Given the description of an element on the screen output the (x, y) to click on. 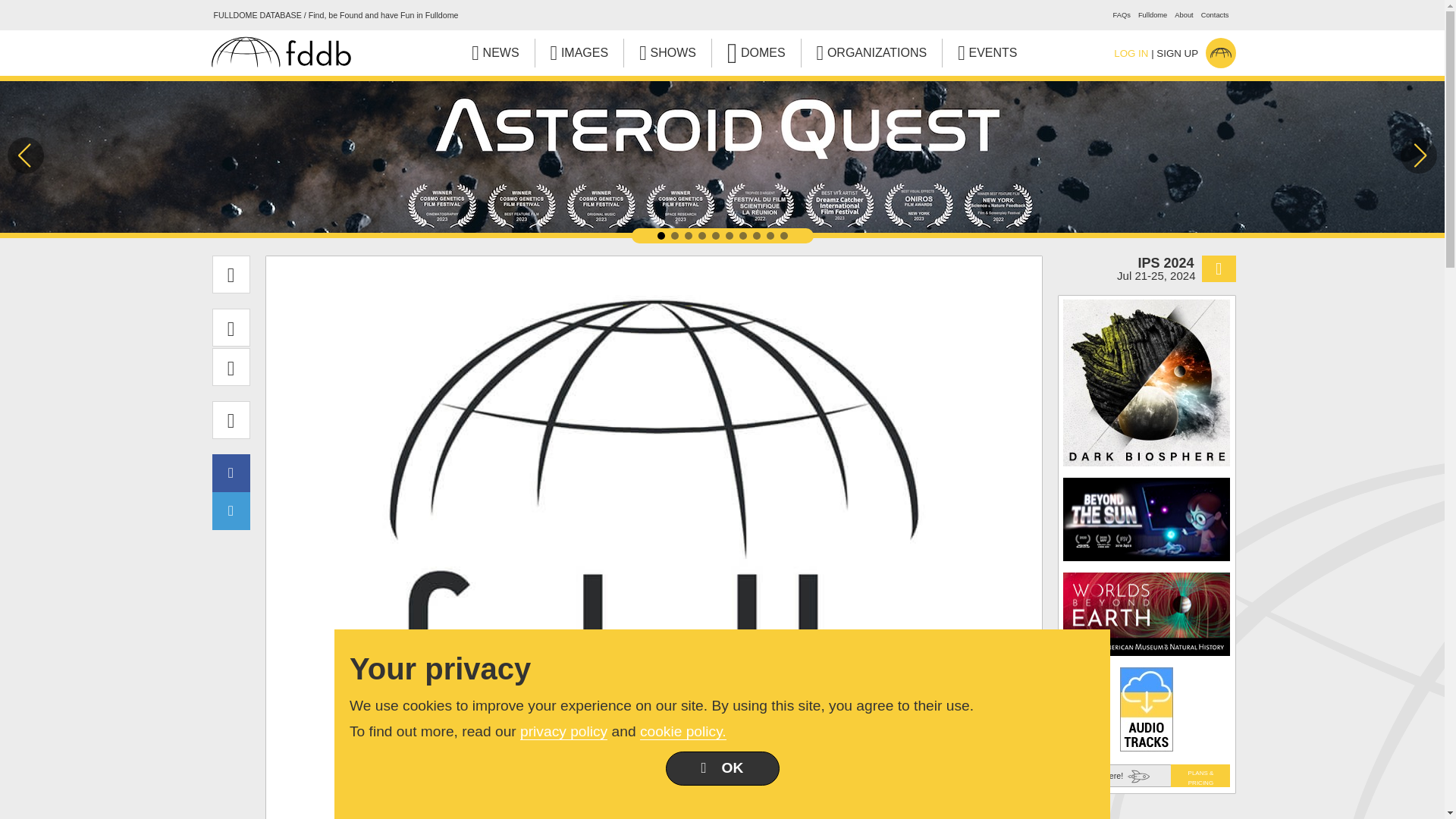
2024 IPS Conference (1145, 268)
ORGANIZATIONS (871, 52)
Fulldome (1152, 14)
FAQs (1122, 14)
OK (721, 768)
SHOWS (667, 52)
About (1183, 14)
NEWS (494, 52)
Contacts (1214, 14)
DOMES (756, 52)
IMAGES (579, 52)
EVENTS (987, 52)
privacy policy (563, 731)
cookie policy. (683, 731)
